Given the description of an element on the screen output the (x, y) to click on. 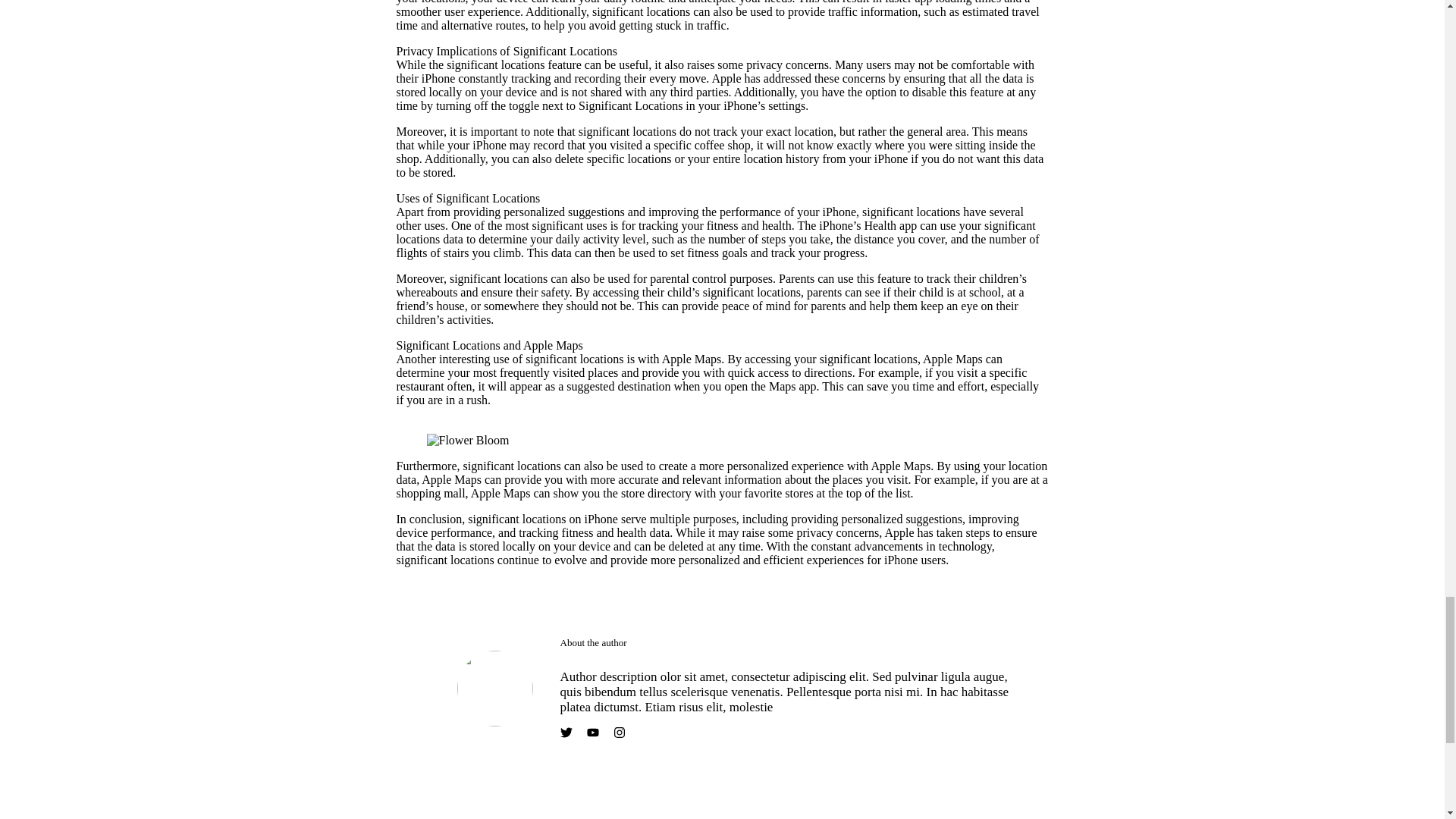
Flower Bloom (467, 440)
testimonials-2 (494, 688)
